Given the description of an element on the screen output the (x, y) to click on. 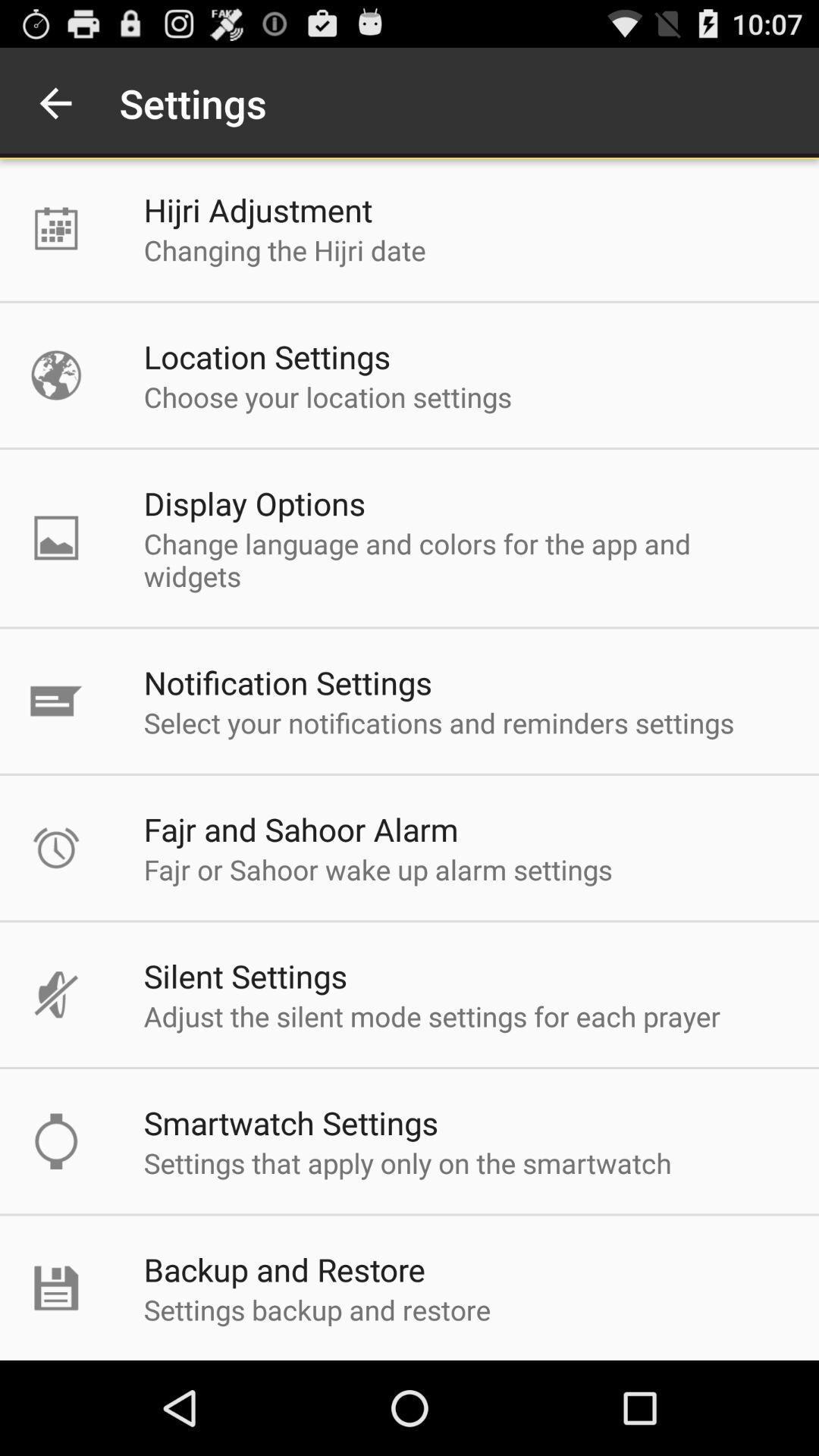
swipe to the select your notifications item (438, 722)
